Given the description of an element on the screen output the (x, y) to click on. 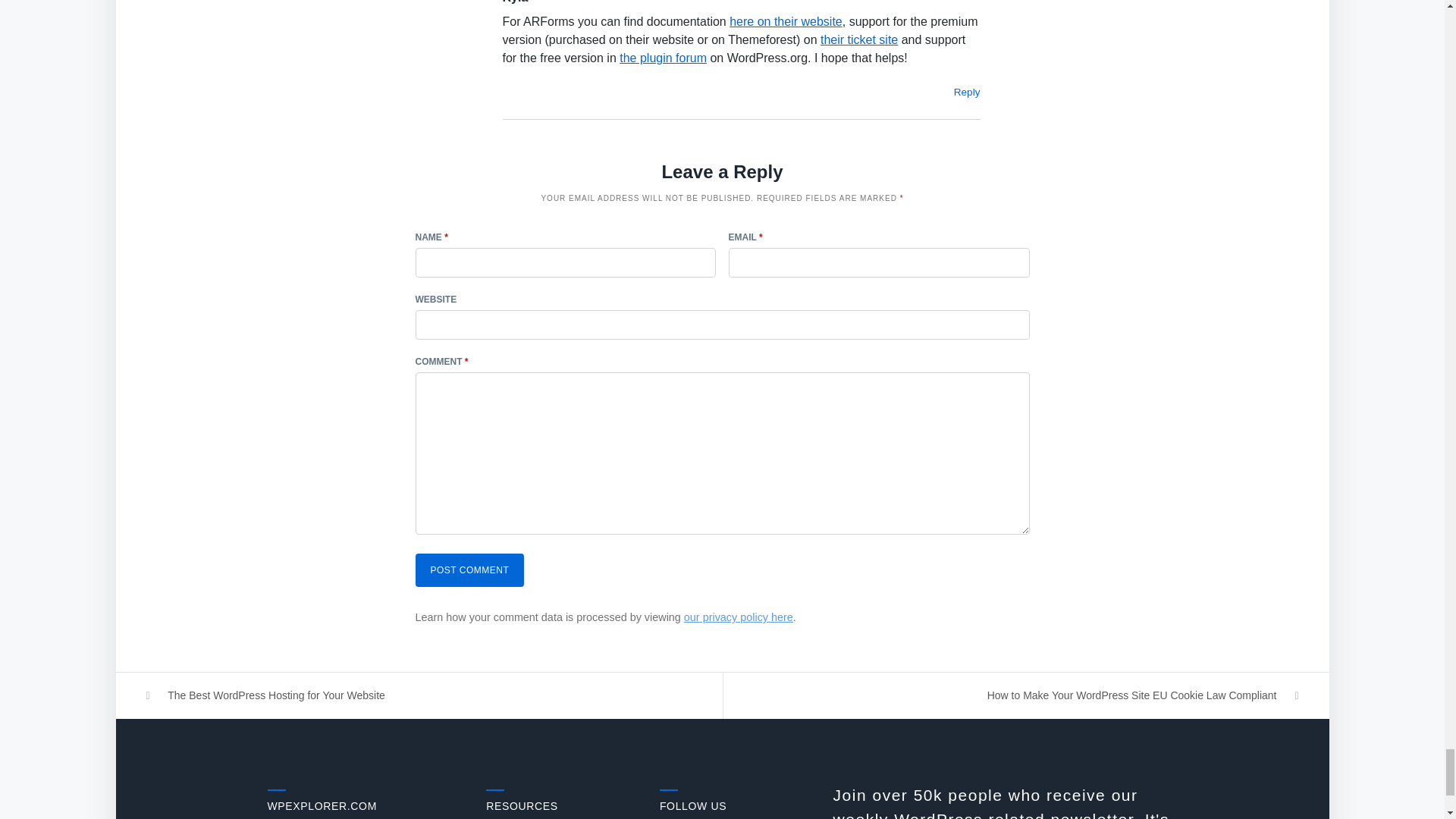
here on their website (786, 21)
their ticket site (859, 39)
Post Comment (469, 570)
the plugin forum (663, 57)
Reply (966, 91)
The Best WordPress Hosting for Your Website (418, 695)
Post Comment (469, 570)
our privacy policy here (738, 616)
How to Make Your WordPress Site EU Cookie Law Compliant (1026, 695)
